Given the description of an element on the screen output the (x, y) to click on. 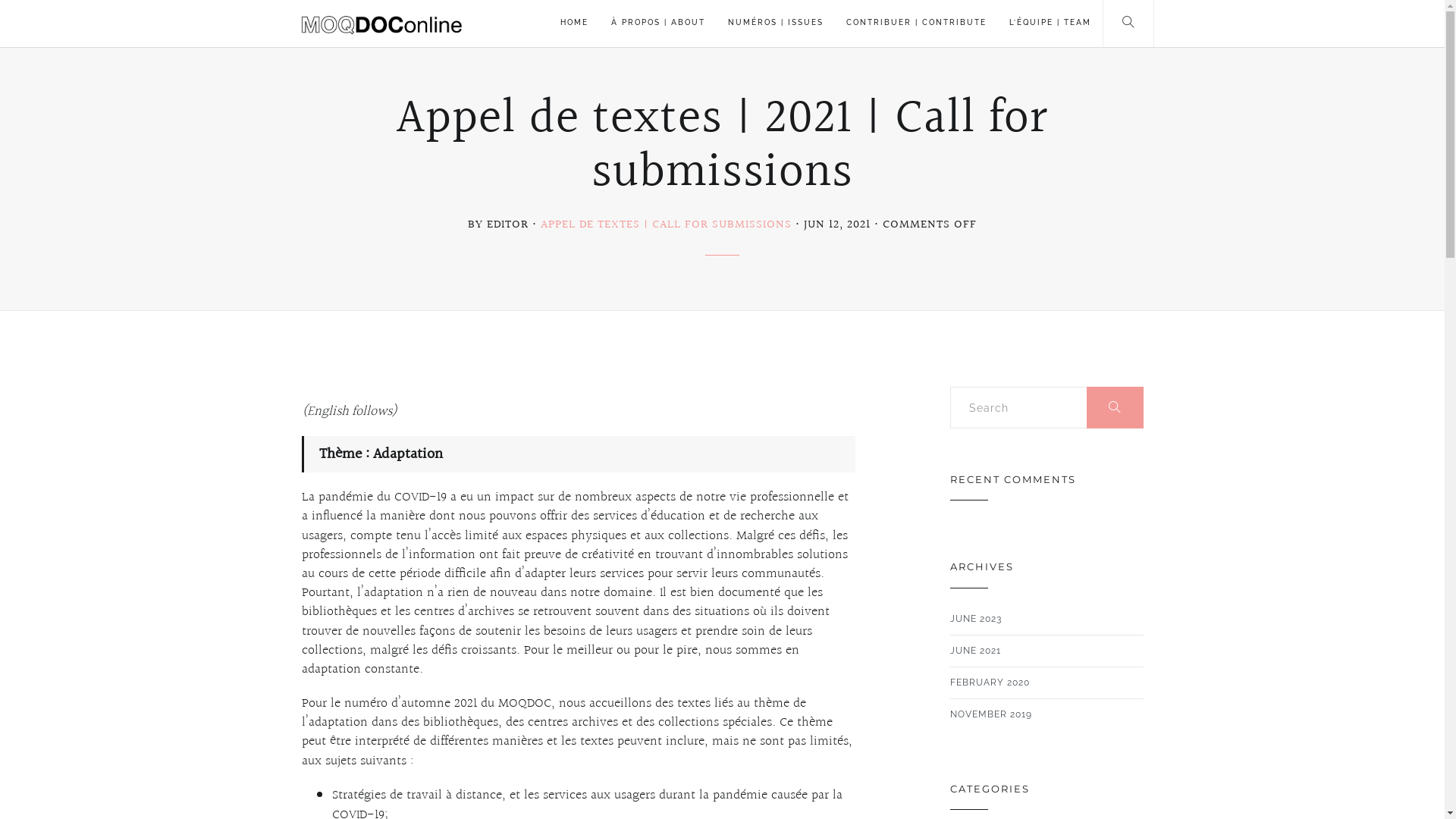
NOVEMBER 2019 Element type: text (990, 714)
JUNE 2021 Element type: text (974, 650)
HOME Element type: text (574, 23)
FEBRUARY 2020 Element type: text (989, 682)
CONTRIBUER | CONTRIBUTE Element type: text (915, 23)
APPEL DE TEXTES | CALL FOR SUBMISSIONS Element type: text (665, 224)
JUNE 2023 Element type: text (975, 618)
